Given the description of an element on the screen output the (x, y) to click on. 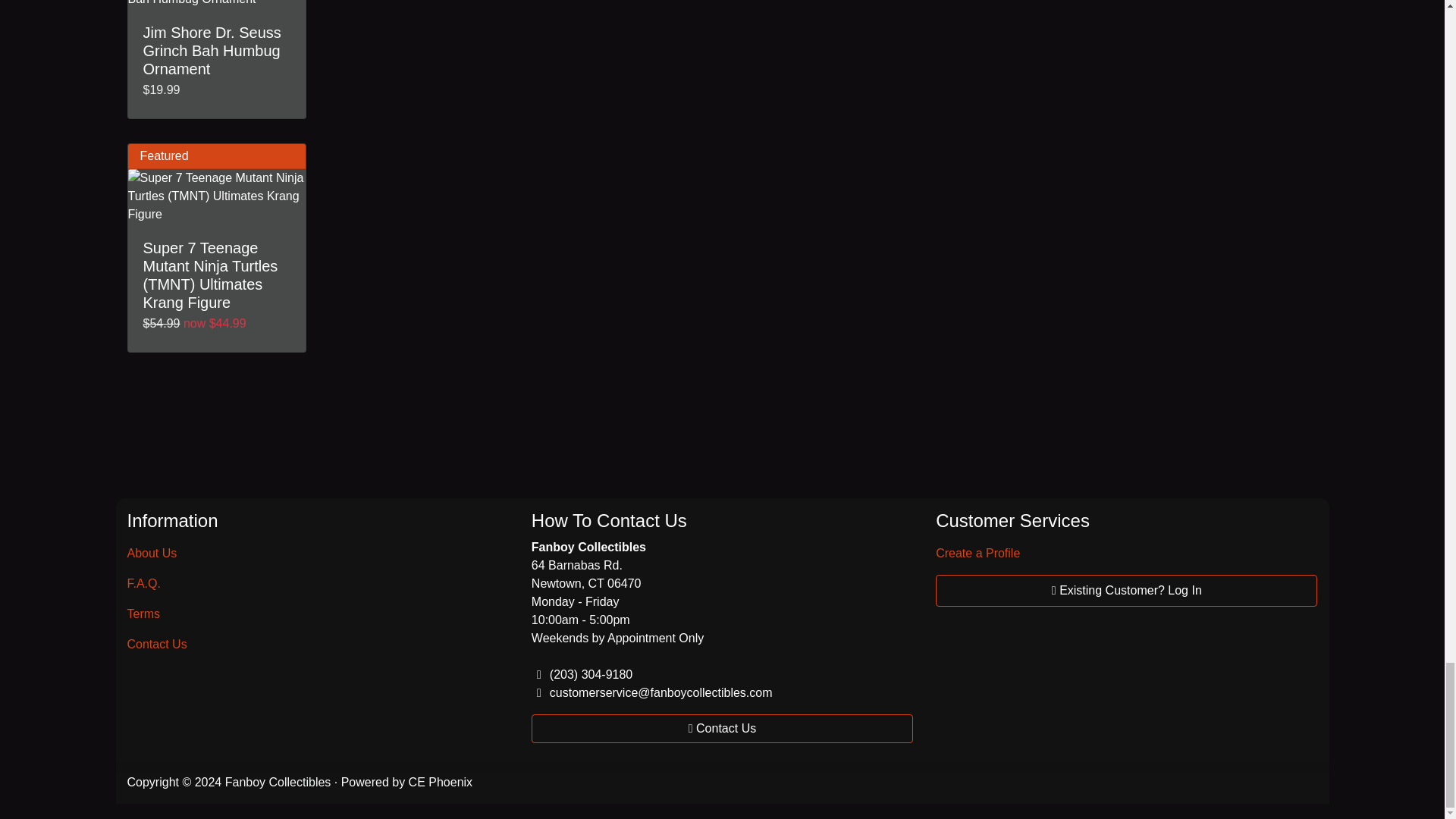
Email (539, 693)
Telephone (539, 674)
Jim Shore Dr. Seuss Grinch Bah Humbug Ornament (216, 4)
